Given the description of an element on the screen output the (x, y) to click on. 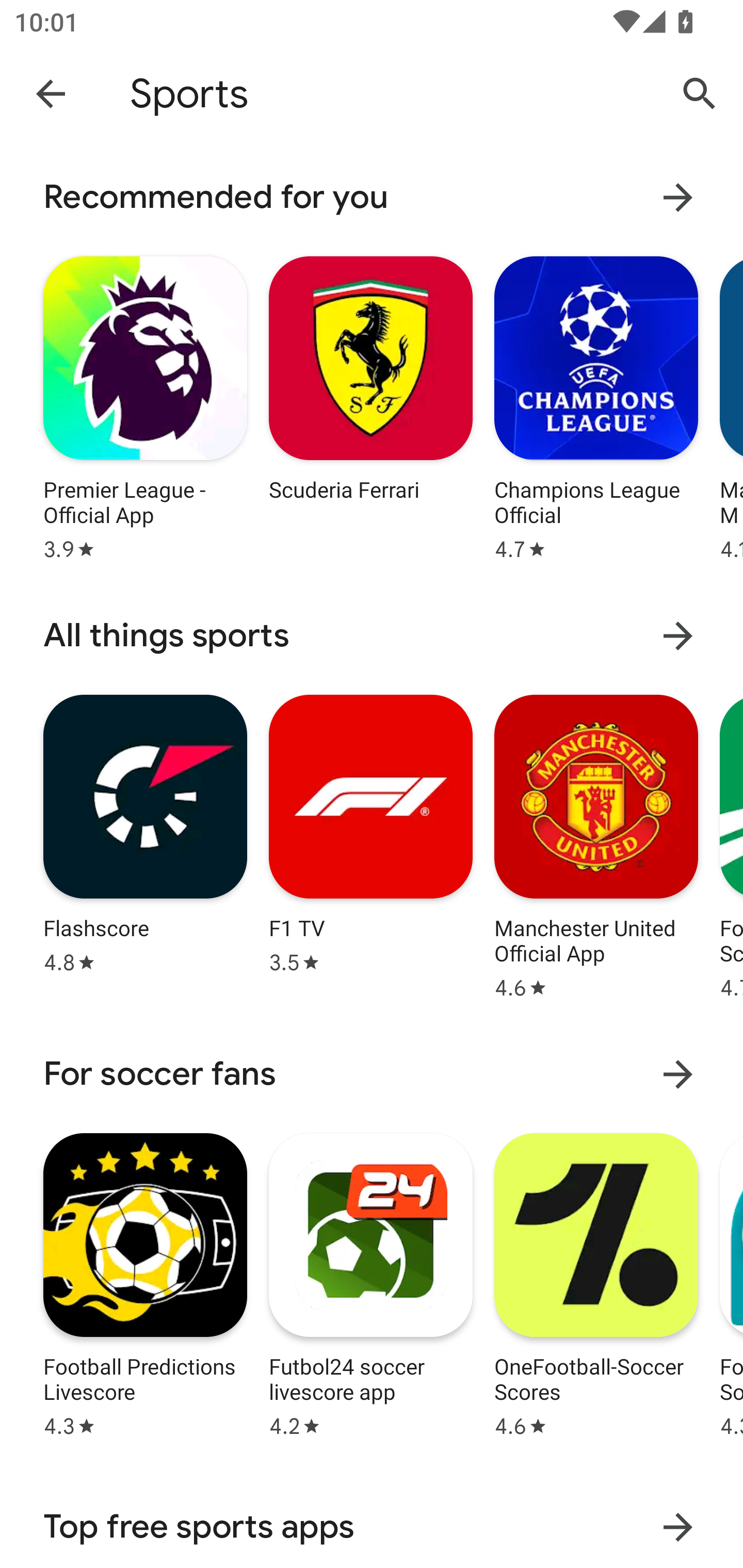
Navigate up (50, 92)
Search Google Play (699, 93)
More results for Recommended for you (677, 197)
App: Scuderia Ferrari


 (370, 405)
App: Champions League Official
Star rating: 4.7


 (595, 405)
More results for All things sports (677, 635)
App: Flashscore
Star rating: 4.8


 (144, 844)
App: F1 TV
Star rating: 3.5


 (370, 844)
For soccer fans
 More results for For soccer fans (371, 1073)
More results for For soccer fans (677, 1074)
App: OneFootball-Soccer Scores
Star rating: 4.6


 (595, 1282)
More results for Top free sports apps (677, 1527)
